Given the description of an element on the screen output the (x, y) to click on. 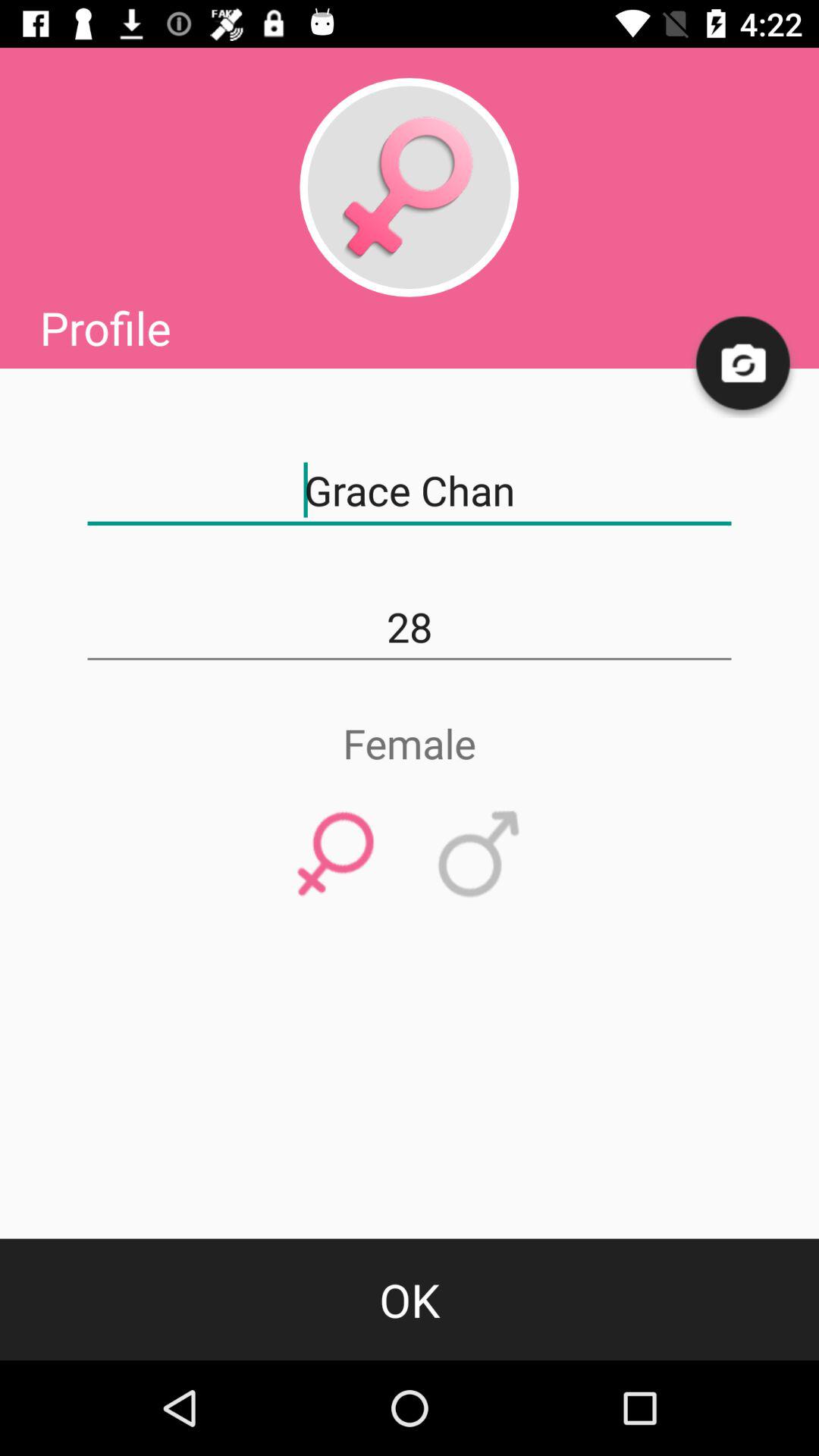
select item above the ok (479, 854)
